Given the description of an element on the screen output the (x, y) to click on. 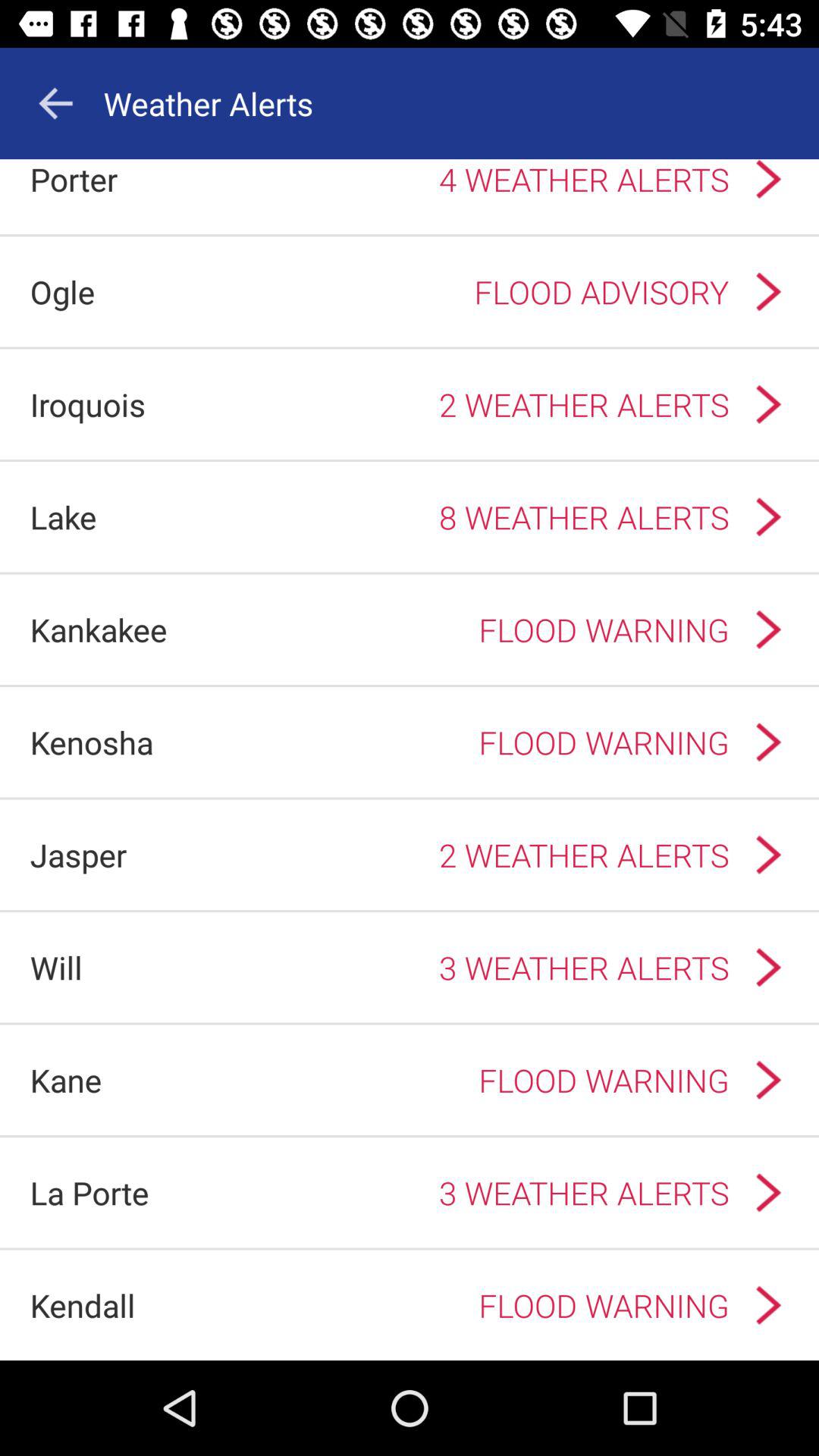
choose the icon next to the flood warning icon (98, 629)
